Given the description of an element on the screen output the (x, y) to click on. 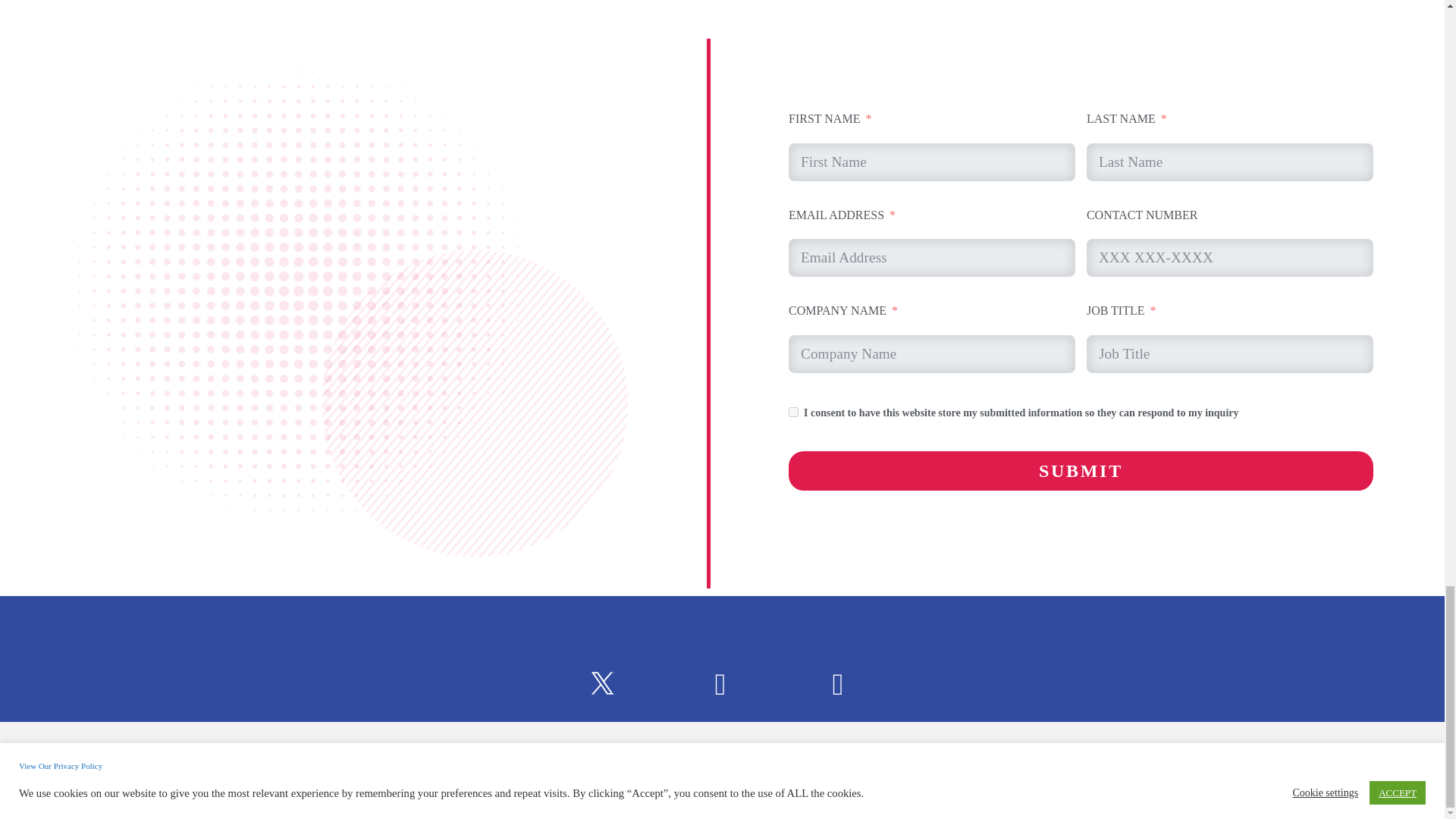
SUBMIT (1081, 470)
on (793, 411)
